Given the description of an element on the screen output the (x, y) to click on. 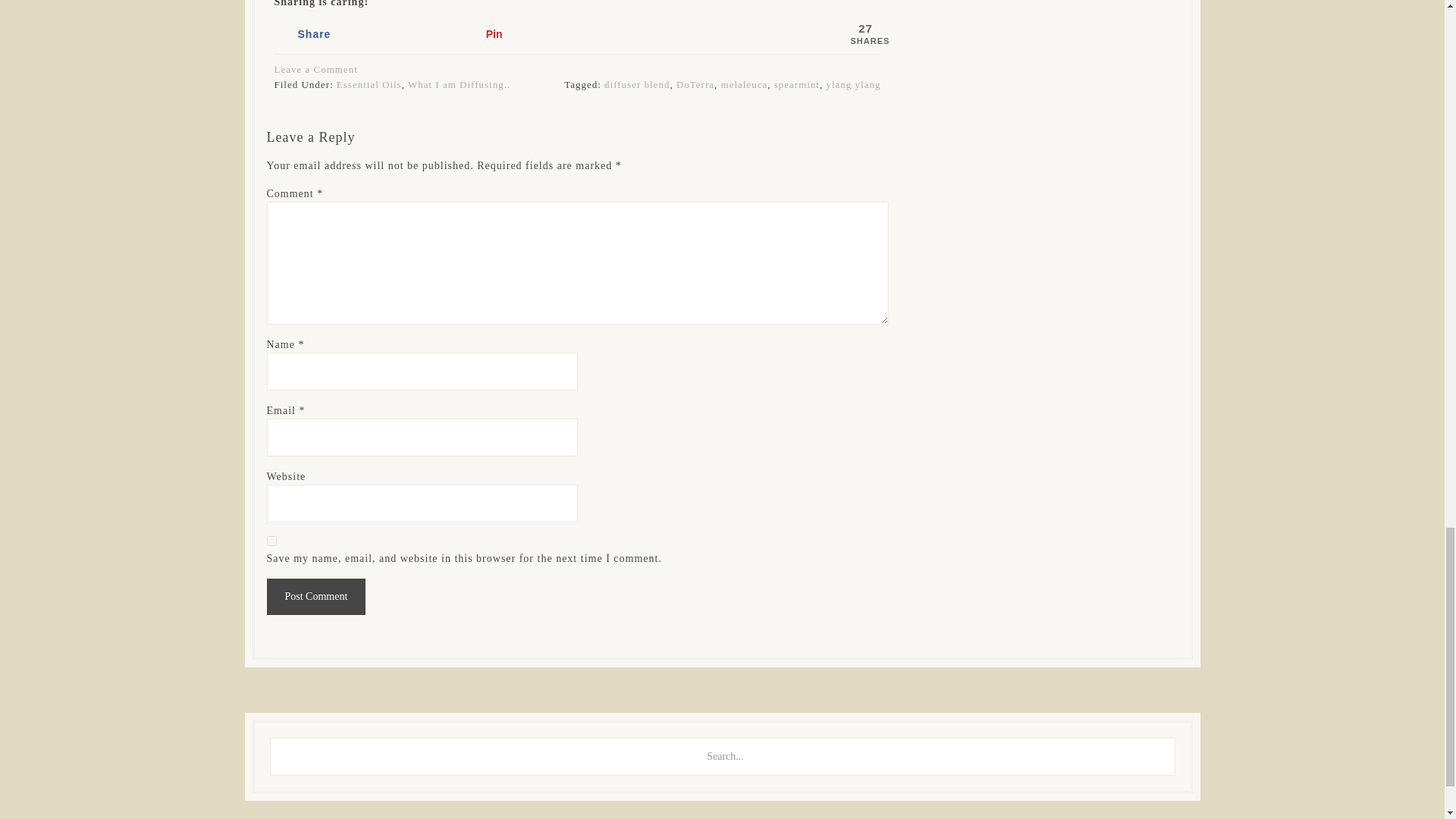
Essential Oils (368, 84)
Post Comment (316, 596)
yes (271, 541)
Save to Pinterest (551, 33)
Pin (551, 33)
Share on Facebook (363, 33)
Share (363, 33)
Leave a Comment (316, 69)
